Given the description of an element on the screen output the (x, y) to click on. 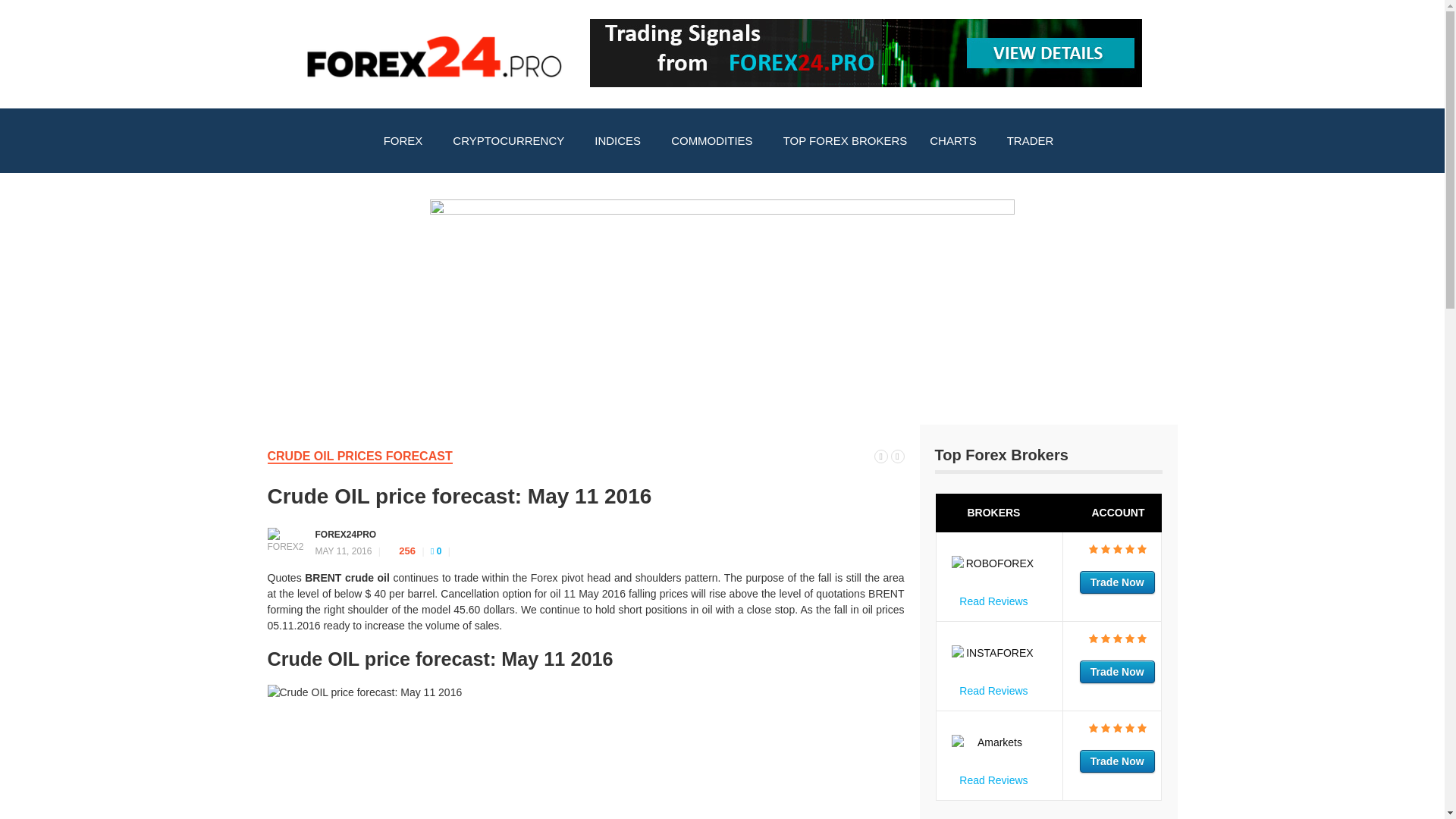
TOP FOREX BROKERS (844, 140)
FOREX (407, 140)
CRYPTOCURRENCY (512, 140)
Previous Post (881, 455)
Next Post (896, 455)
INDICES (621, 140)
CHARTS (956, 140)
COMMODITIES (715, 140)
